Given the description of an element on the screen output the (x, y) to click on. 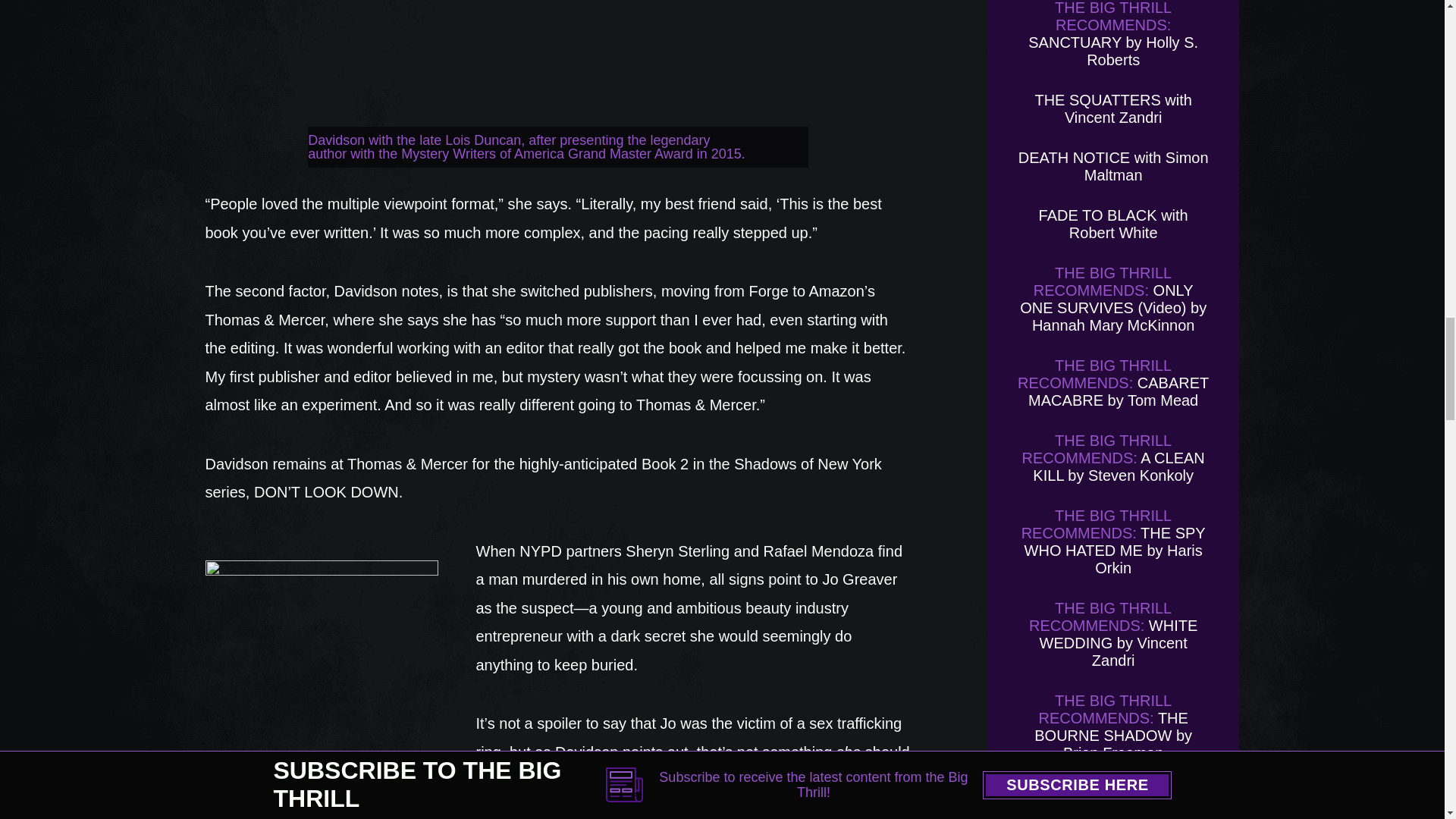
FADE TO BLACK with Robert White (1113, 223)
THE SQUATTERS with Vincent Zandri (1112, 108)
DEATH NOTICE with Simon Maltman (1112, 166)
The Big Thrill Recommends: SANCTUARY by Holly S. Roberts (1112, 33)
